Given the description of an element on the screen output the (x, y) to click on. 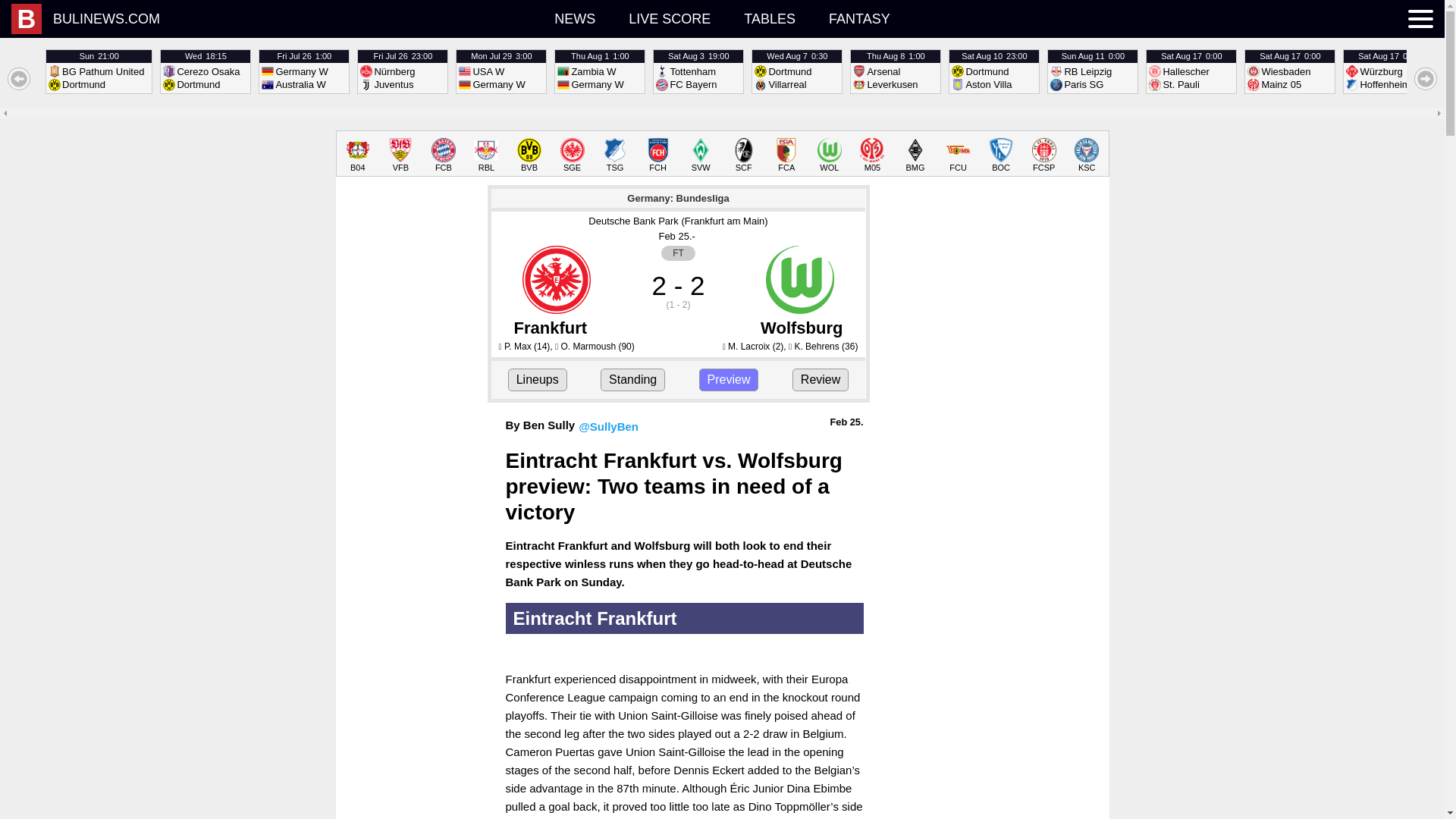
Dortmund News (529, 154)
SC Freiburg News (797, 71)
Union Berlin News (743, 154)
NEWS (957, 154)
Eintracht Frankfurt News (574, 18)
Gladbach News (572, 154)
Bochum News (915, 154)
LIVE SCORE (1001, 154)
B (98, 71)
Bayer Leverkusen News (668, 18)
FC Bayern News (26, 19)
TSG Hoffenheim News (358, 154)
